Given the description of an element on the screen output the (x, y) to click on. 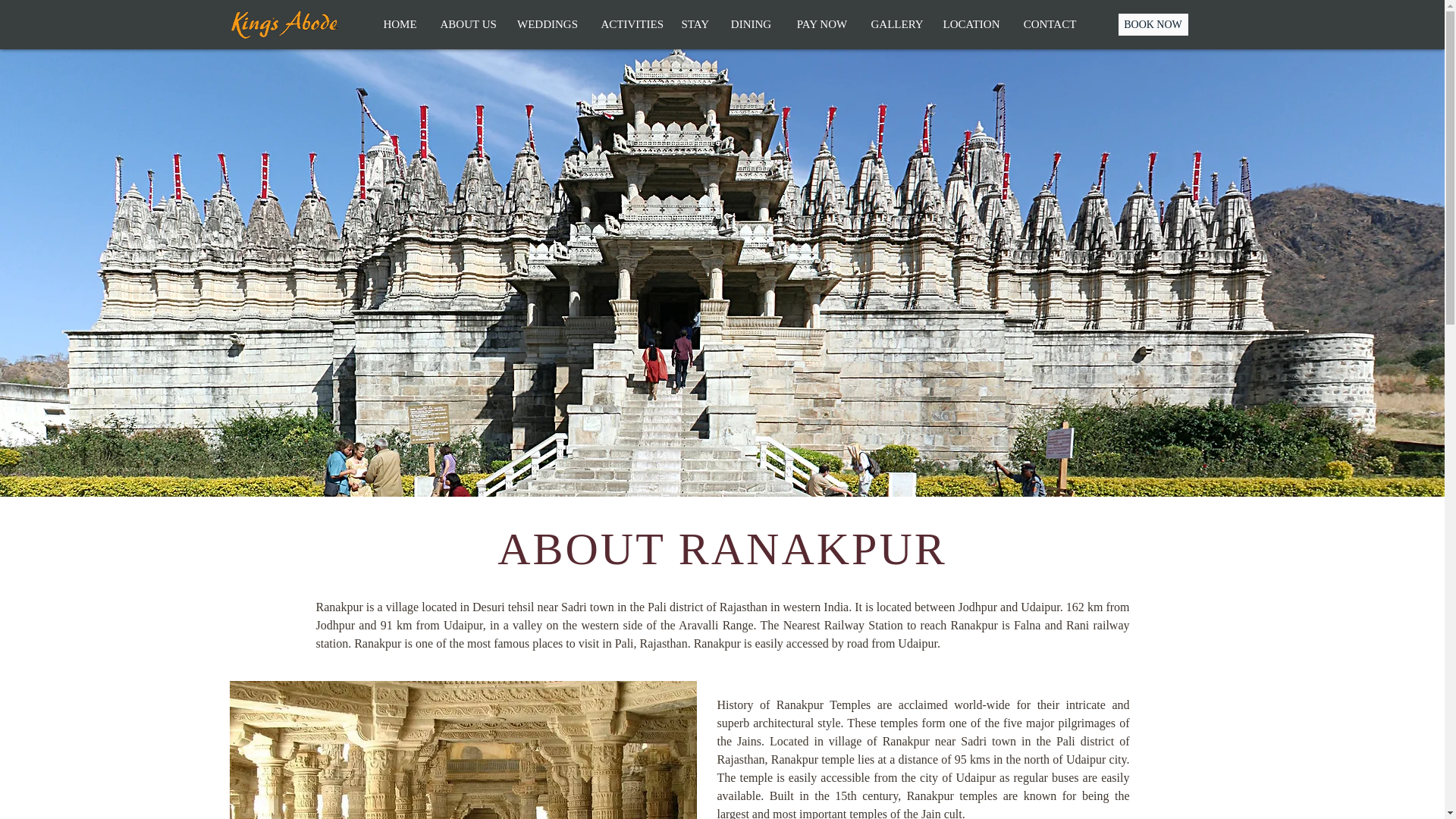
WEDDINGS (547, 24)
HOME (400, 24)
ABOUT US (467, 24)
LOCATION (971, 24)
STAY (693, 24)
BOOK NOW (1153, 24)
PAY NOW (821, 24)
ACTIVITIES (629, 24)
CONTACT (1049, 24)
DINING (750, 24)
